Given the description of an element on the screen output the (x, y) to click on. 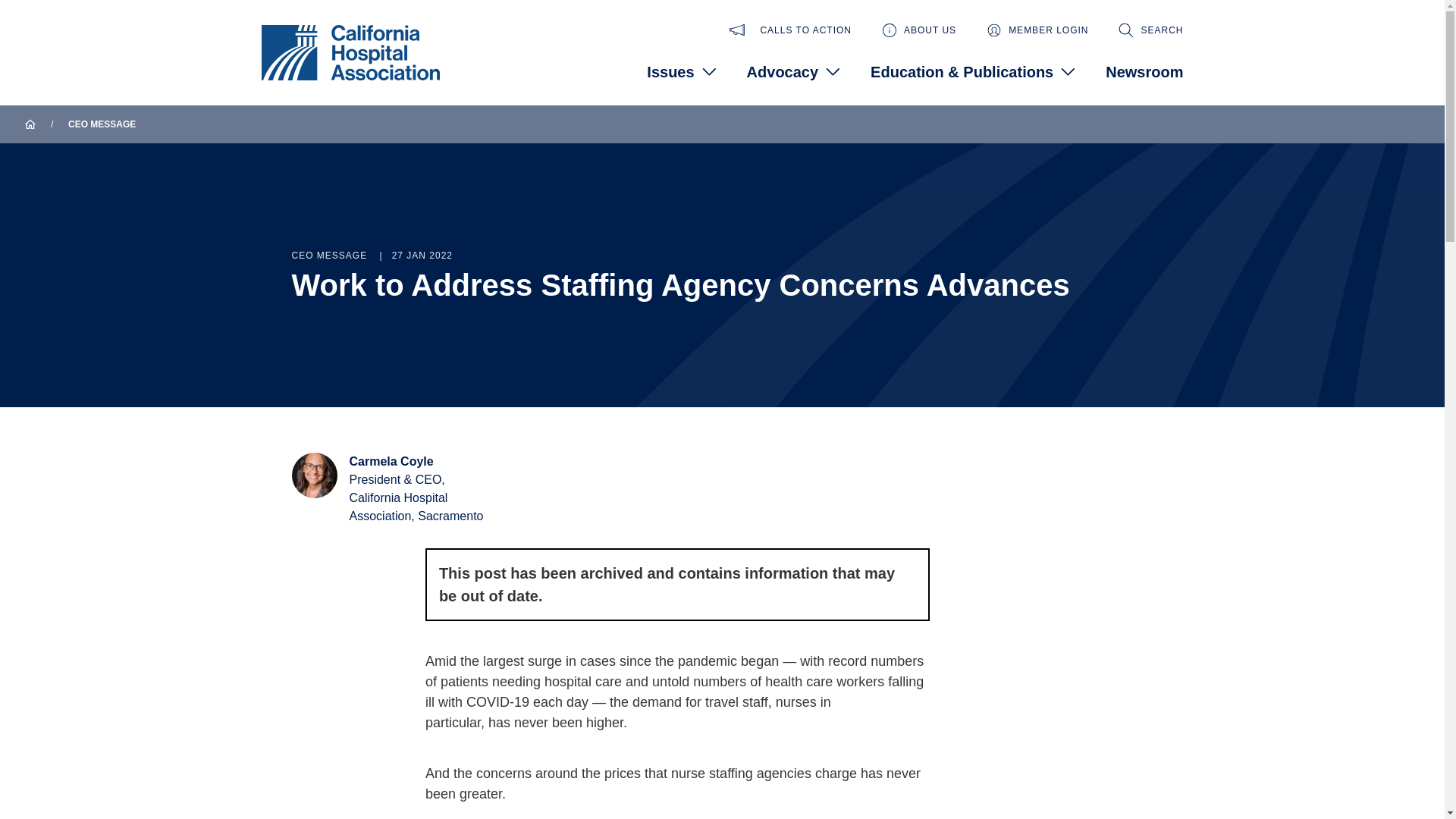
Advocacy (793, 71)
Carmela Coyle (390, 461)
SEARCH (1150, 29)
Newsroom (1143, 71)
MEMBER LOGIN (1037, 29)
Issues (681, 71)
CALLS TO ACTION (790, 29)
ABOUT US (919, 29)
CEO MESSAGE (102, 124)
